Given the description of an element on the screen output the (x, y) to click on. 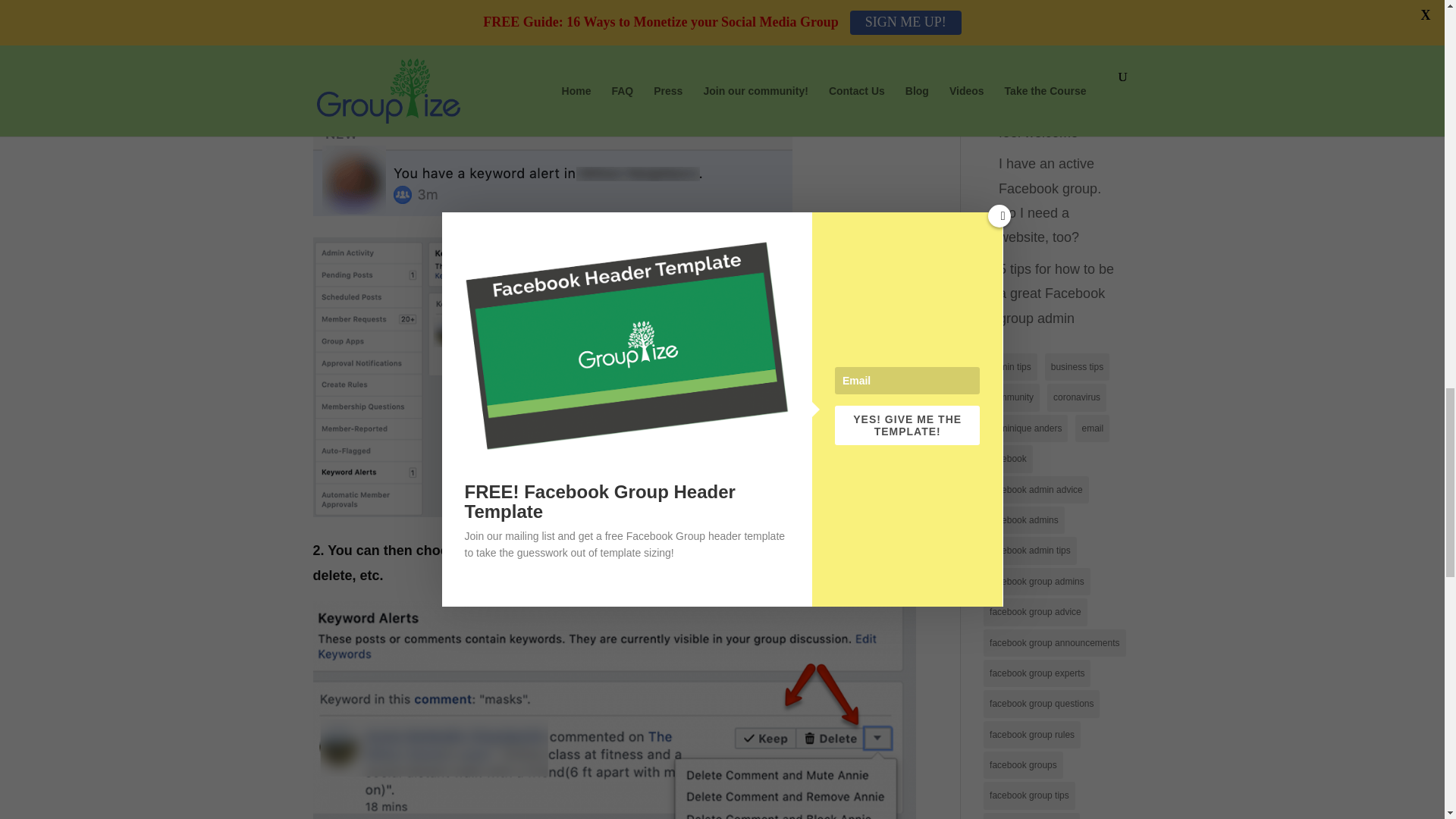
Should my Facebook group be public or private? (1057, 18)
How to make you new Facebook group members feel welcome (1050, 95)
I have an active Facebook group. Do I need a website, too? (1049, 200)
